Given the description of an element on the screen output the (x, y) to click on. 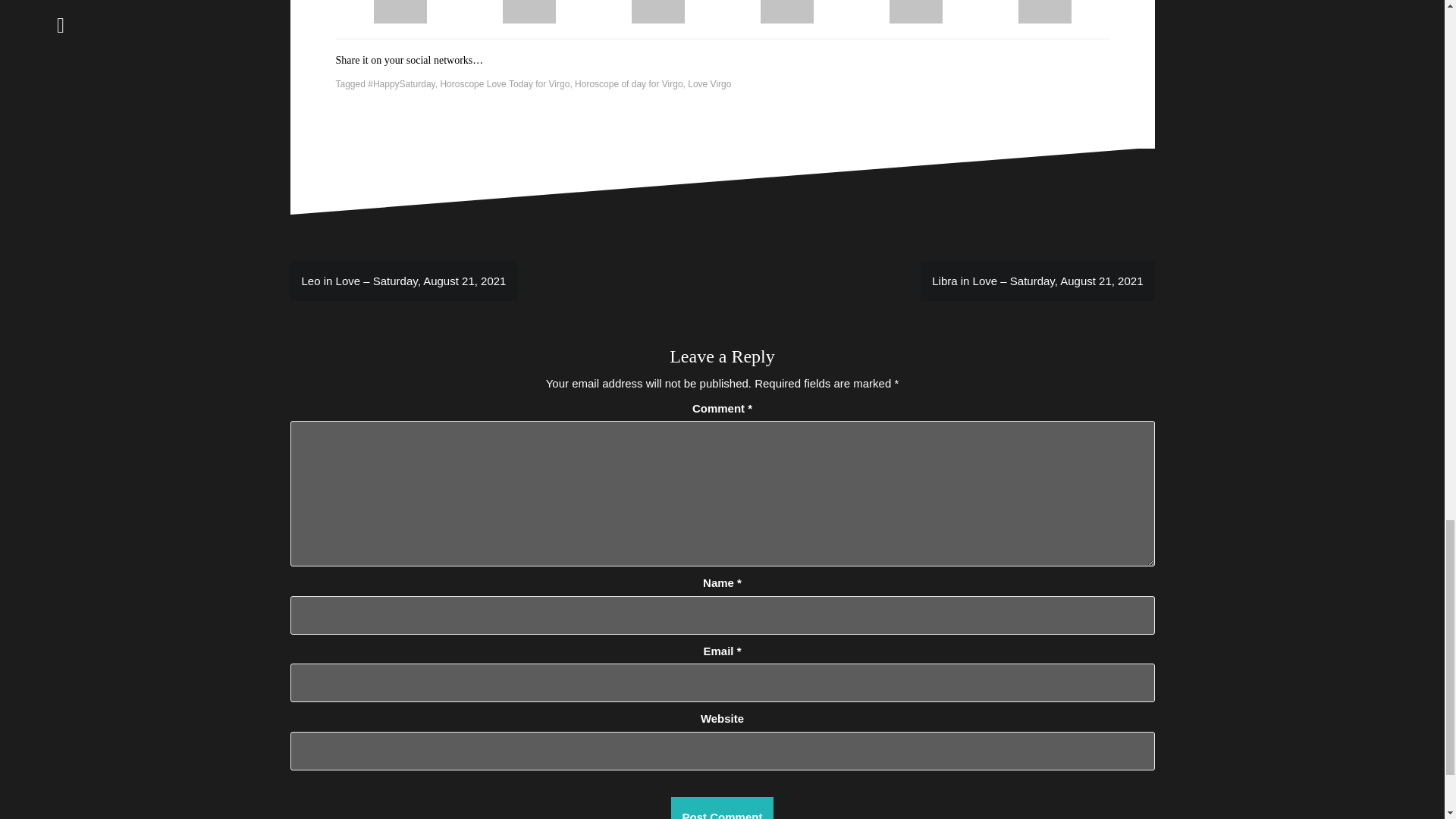
Post Comment (722, 807)
Post Comment (722, 807)
Horoscope of day for Virgo (628, 83)
Horoscope Love Today for Virgo (504, 83)
Love Virgo (708, 83)
